Given the description of an element on the screen output the (x, y) to click on. 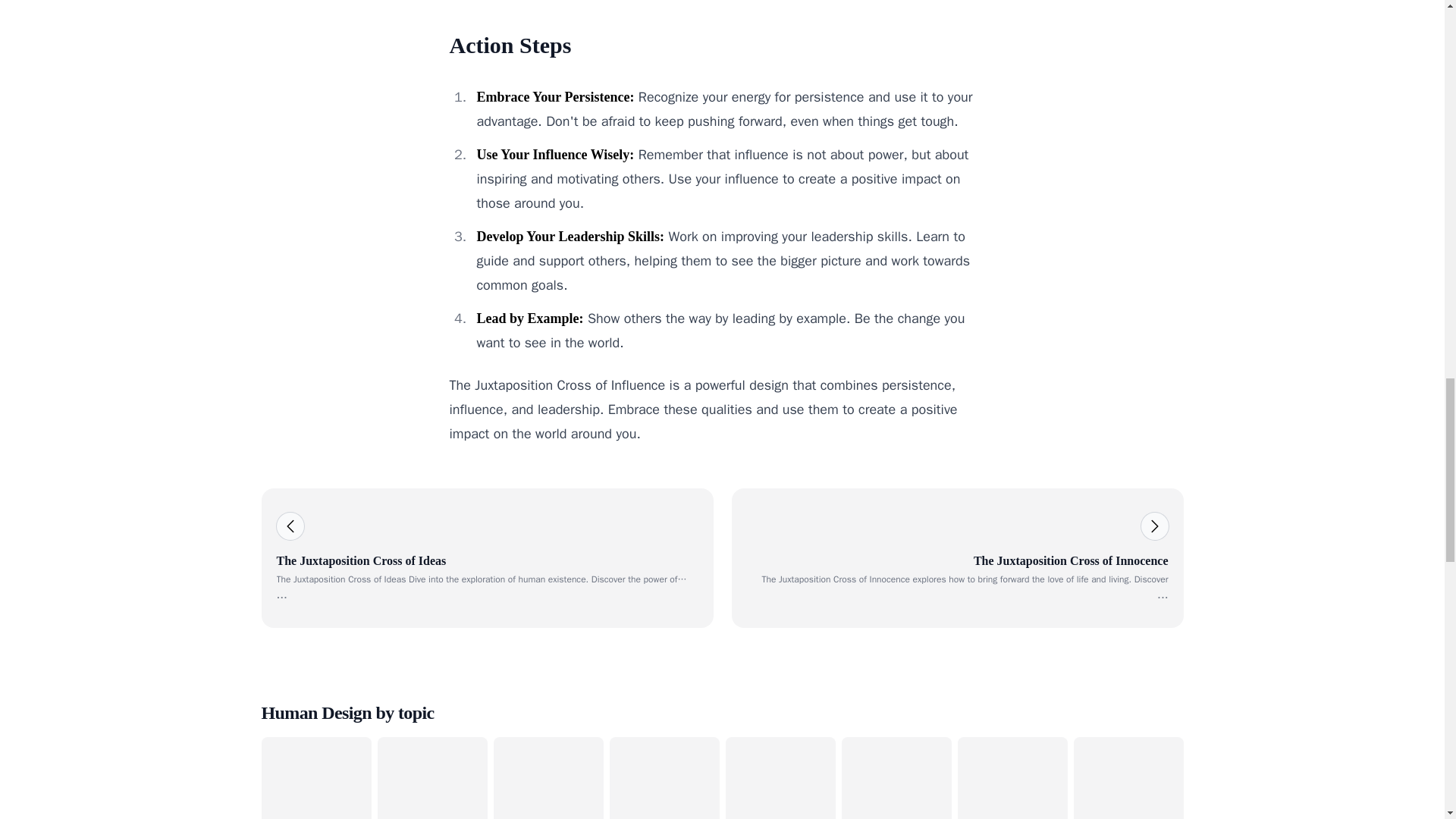
Centers (779, 778)
Profiles (432, 778)
The Juxtaposition Cross of Innocence (956, 558)
The Juxtaposition Cross of Ideas (486, 558)
Types (315, 778)
Gates (1128, 778)
Channels (896, 778)
Authorities (1011, 778)
Strategies (547, 778)
